Given the description of an element on the screen output the (x, y) to click on. 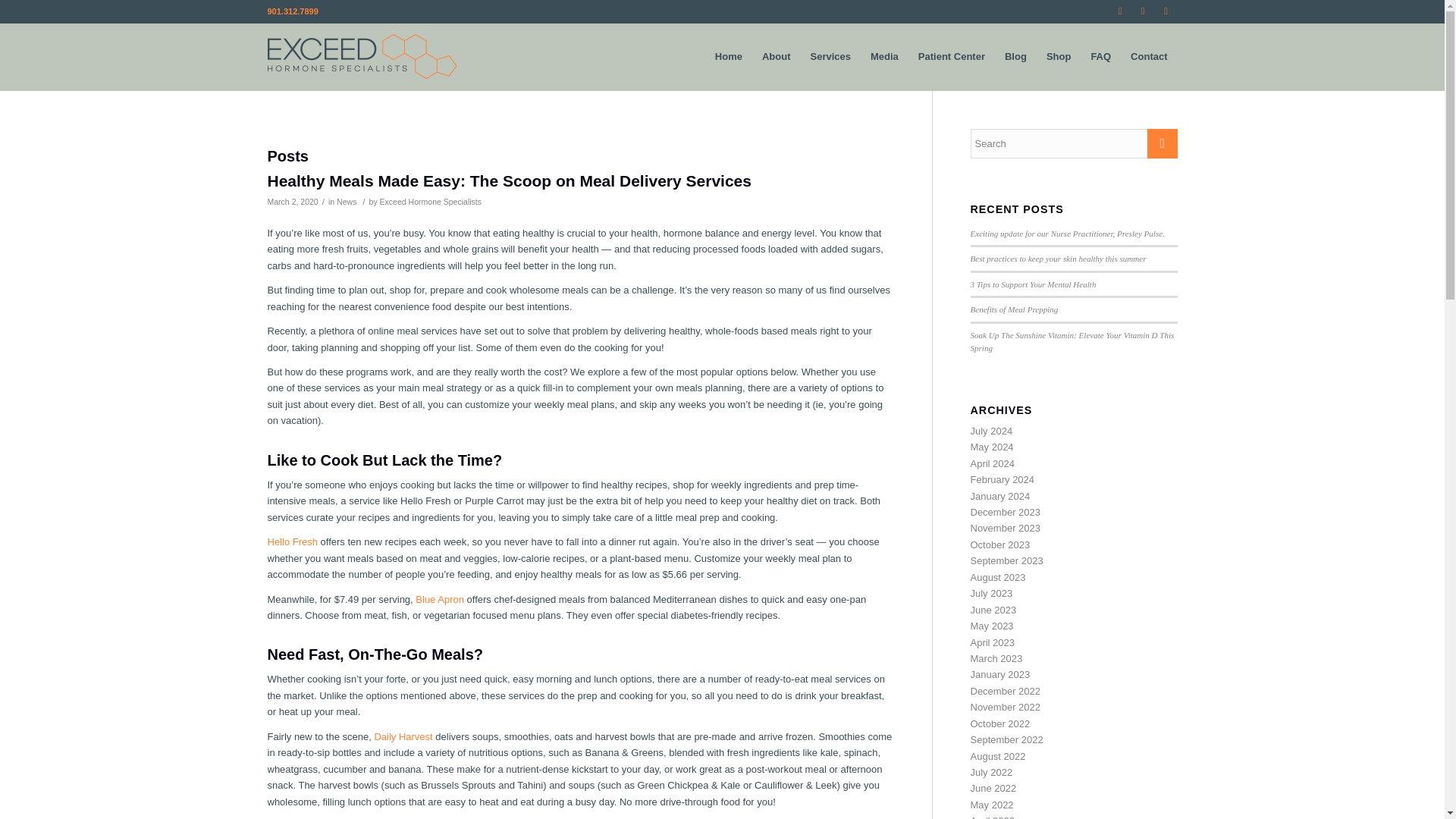
Linkedin (1142, 11)
September 2023 (1007, 560)
Patient Center (951, 56)
January 2024 (1000, 496)
Posts by Exceed Hormone Specialists (430, 201)
Hello Fresh (291, 541)
Blue Apron (439, 598)
Mail (1165, 11)
November 2023 (1006, 527)
December 2023 (1006, 511)
July 2024 (992, 430)
October 2023 (1000, 544)
Exceed Hormone Specialists (430, 201)
